Given the description of an element on the screen output the (x, y) to click on. 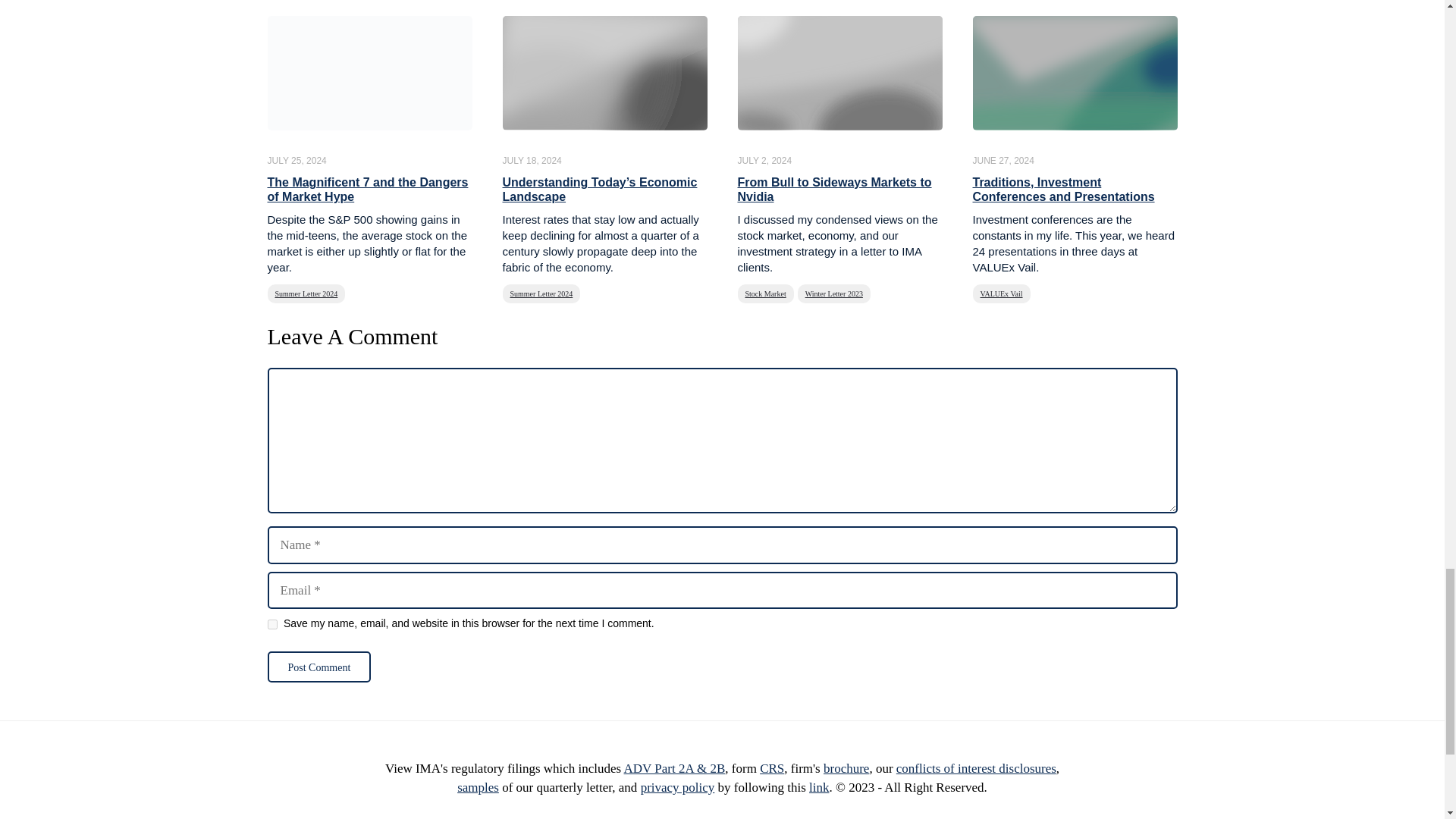
yes (271, 624)
The Magnificent 7 and the Dangers of Market Hype (366, 189)
Post Comment (318, 666)
Summer Letter 2024 (540, 293)
Summer Letter 2024 (305, 293)
From Bull to Sideways Markets to Nvidia (833, 189)
